Given the description of an element on the screen output the (x, y) to click on. 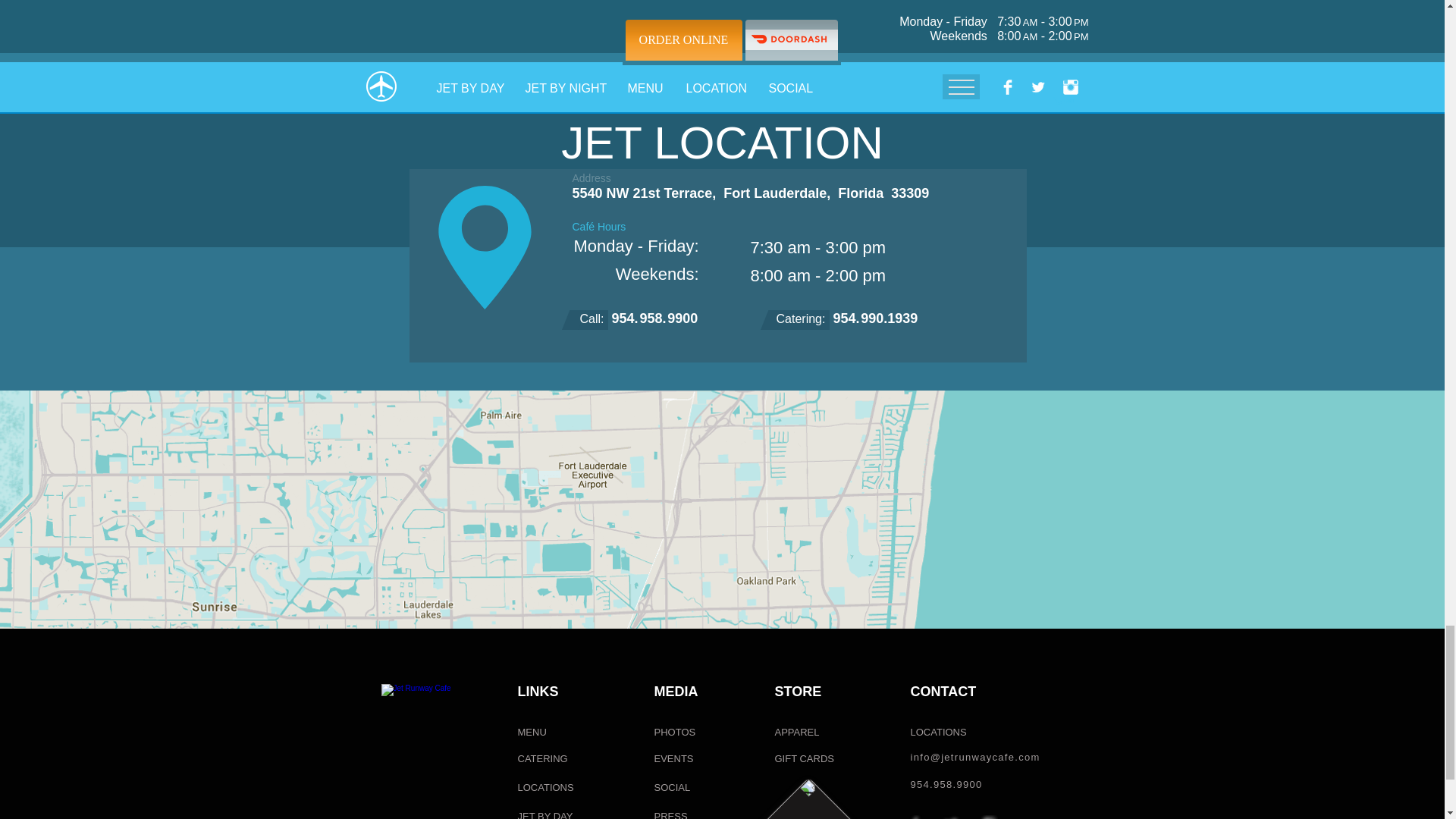
MENU (537, 732)
LOCATIONS (551, 787)
SOCIAL (676, 787)
CATERING (547, 759)
PRESS (676, 811)
PHOTOS (676, 732)
GIFT CARDS (804, 759)
APPAREL (798, 732)
EVENTS (676, 759)
JET BY DAY (547, 811)
